Given the description of an element on the screen output the (x, y) to click on. 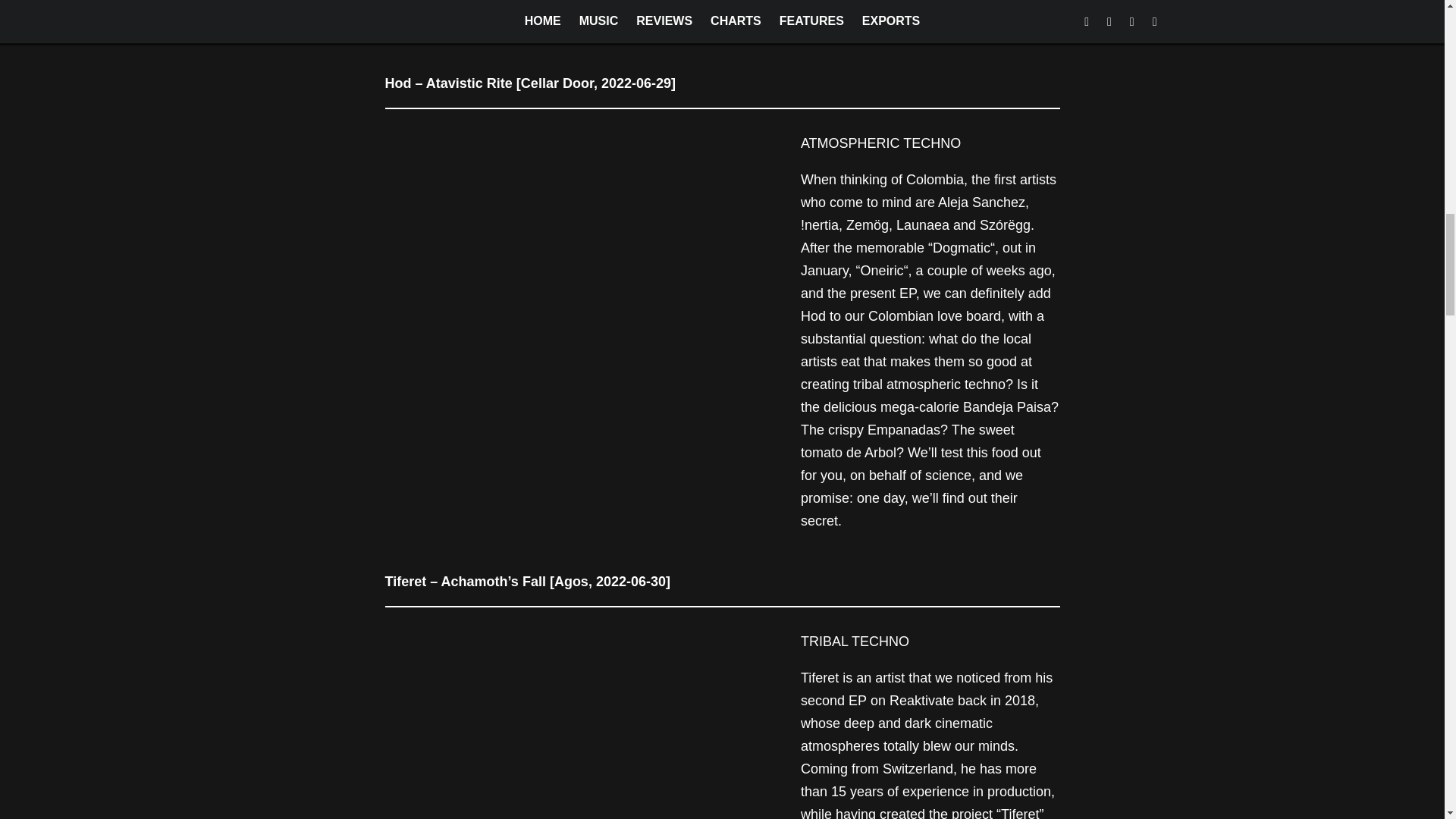
Dogmatic (961, 247)
Reaktivate (921, 700)
EP (857, 700)
Oneiric (882, 270)
